Given the description of an element on the screen output the (x, y) to click on. 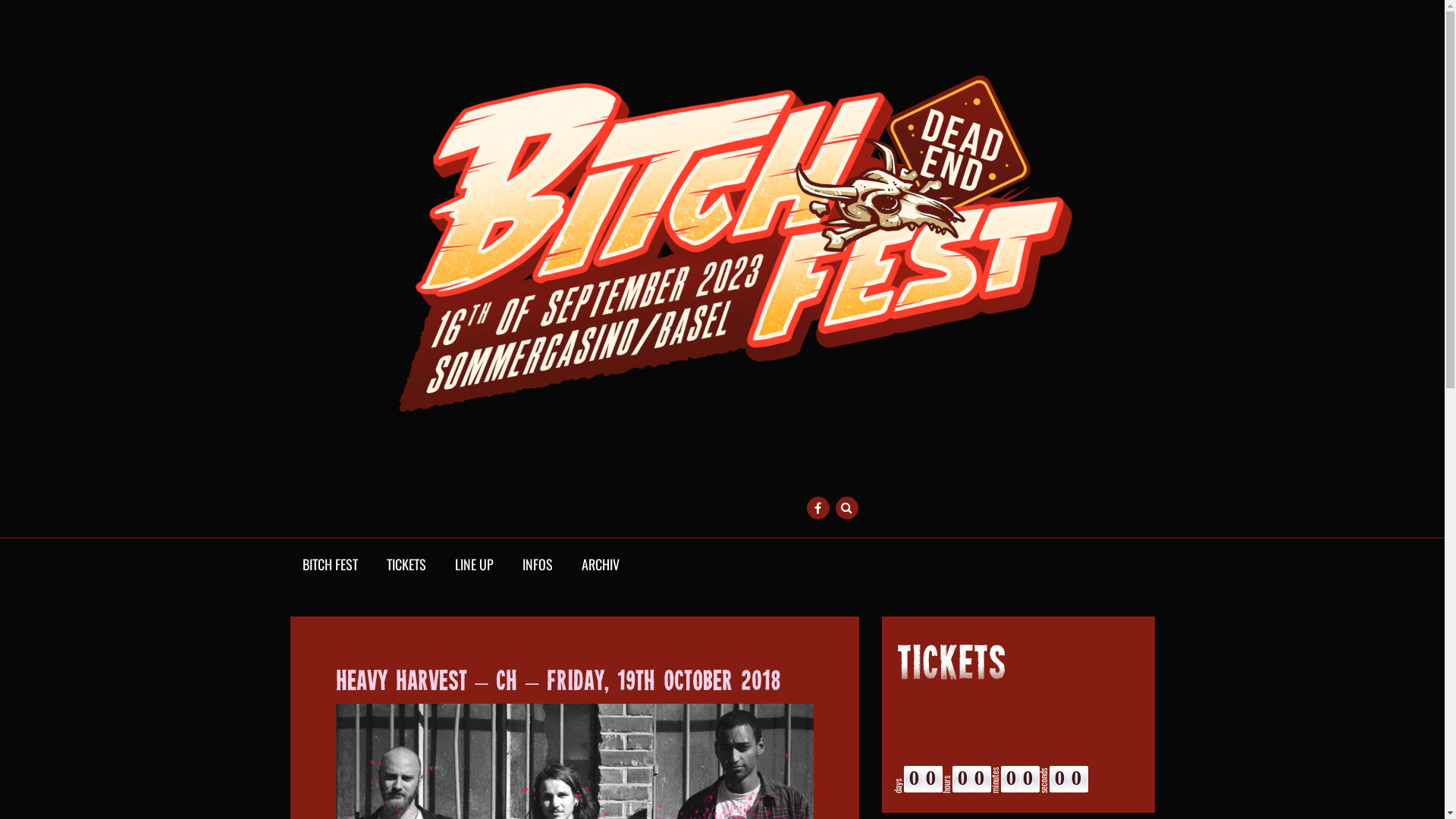
Facebook Element type: hover (817, 507)
TICKETS Element type: text (950, 665)
TICKETS Element type: text (406, 564)
INFOS Element type: text (536, 564)
BITCH FEST Element type: text (329, 564)
ARCHIV Element type: text (599, 564)
LINE UP Element type: text (473, 564)
